Given the description of an element on the screen output the (x, y) to click on. 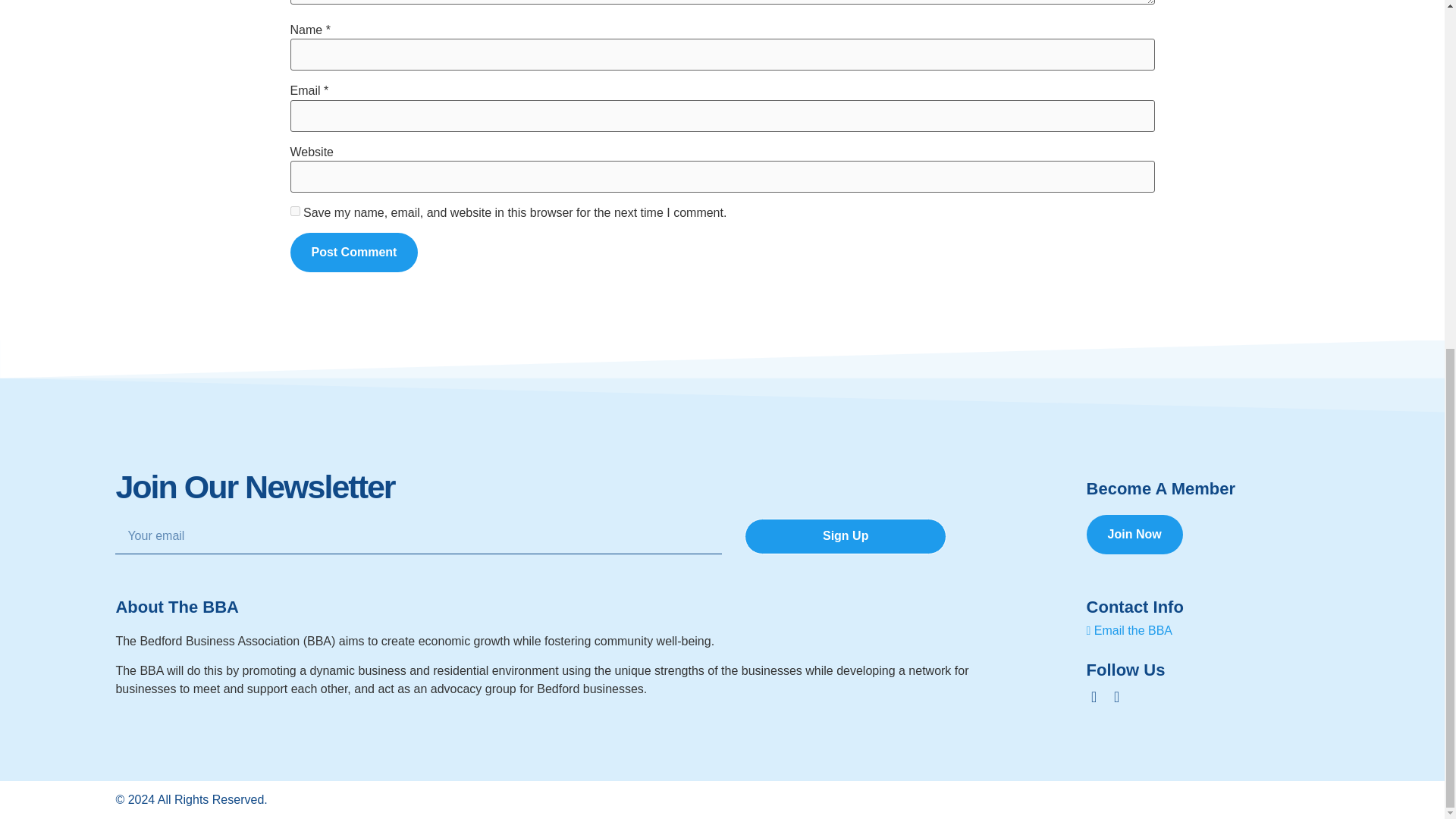
Post Comment (353, 251)
Sign Up (845, 536)
Email the BBA (1129, 630)
yes (294, 211)
Join Now (1134, 534)
Post Comment (353, 251)
